Given the description of an element on the screen output the (x, y) to click on. 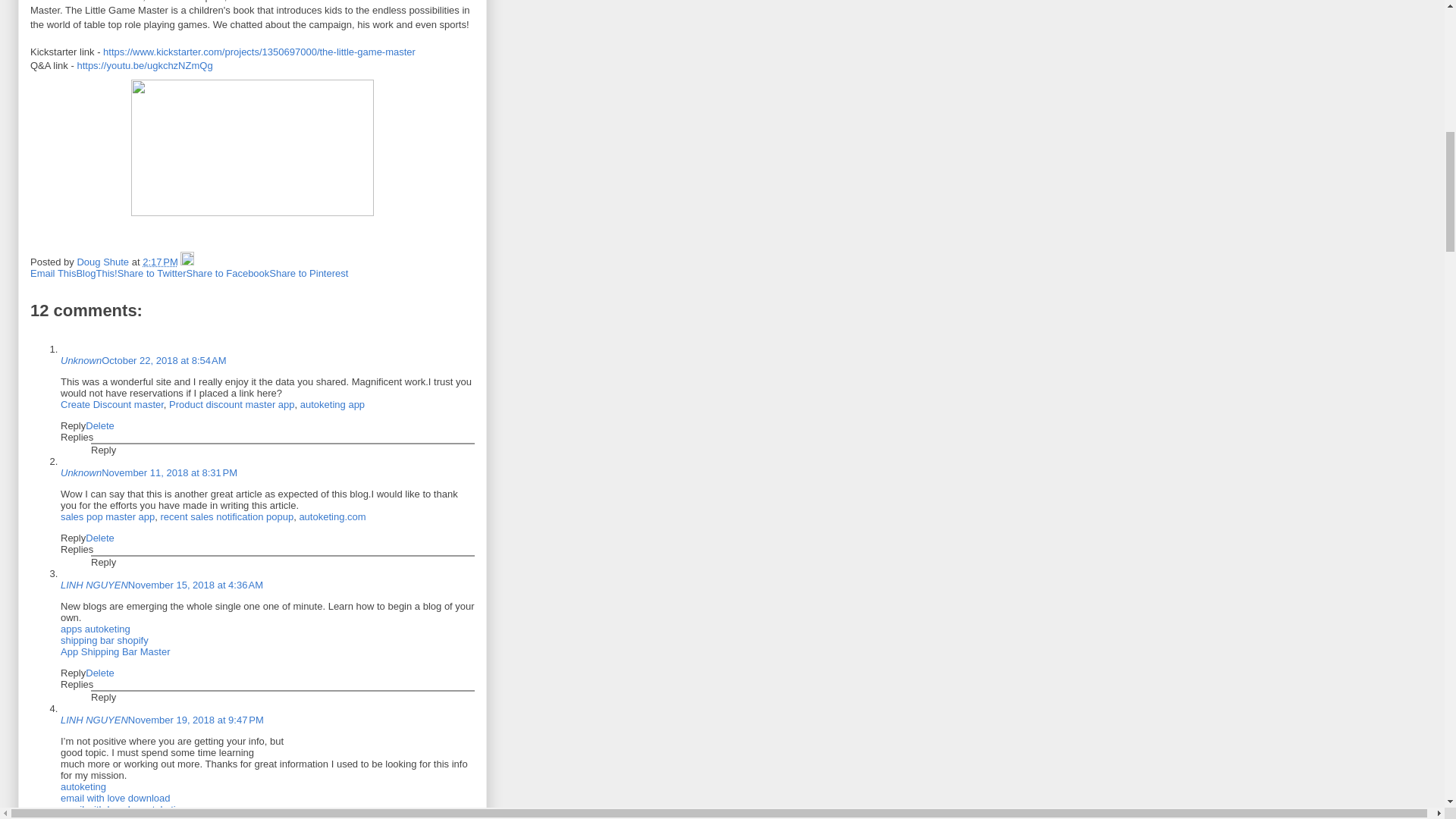
Share to Pinterest (308, 273)
sales pop master app (107, 516)
Replies (77, 549)
Share to Facebook (227, 273)
Share to Pinterest (308, 273)
recent sales notification popup (227, 516)
LINH NGUYEN (94, 584)
Reply (103, 562)
App Shipping Bar Master (115, 651)
Reply (73, 537)
Delete (100, 425)
Unknown (81, 472)
autoketing app (332, 404)
Edit Post (186, 261)
